Given the description of an element on the screen output the (x, y) to click on. 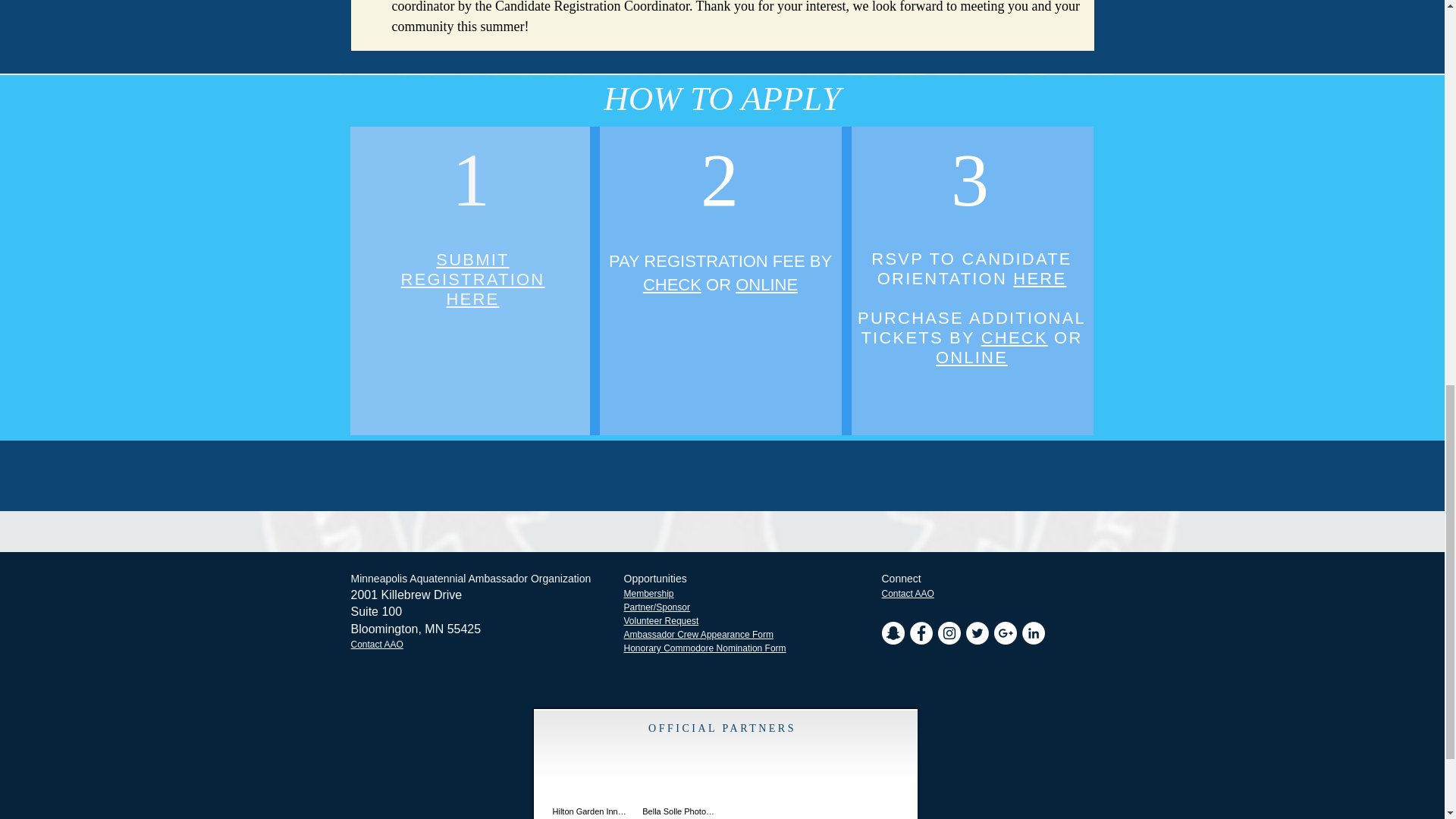
HERE (1039, 278)
CHECK (1014, 337)
ONLINE (472, 279)
CHECK (971, 357)
ONLINE (672, 284)
